Given the description of an element on the screen output the (x, y) to click on. 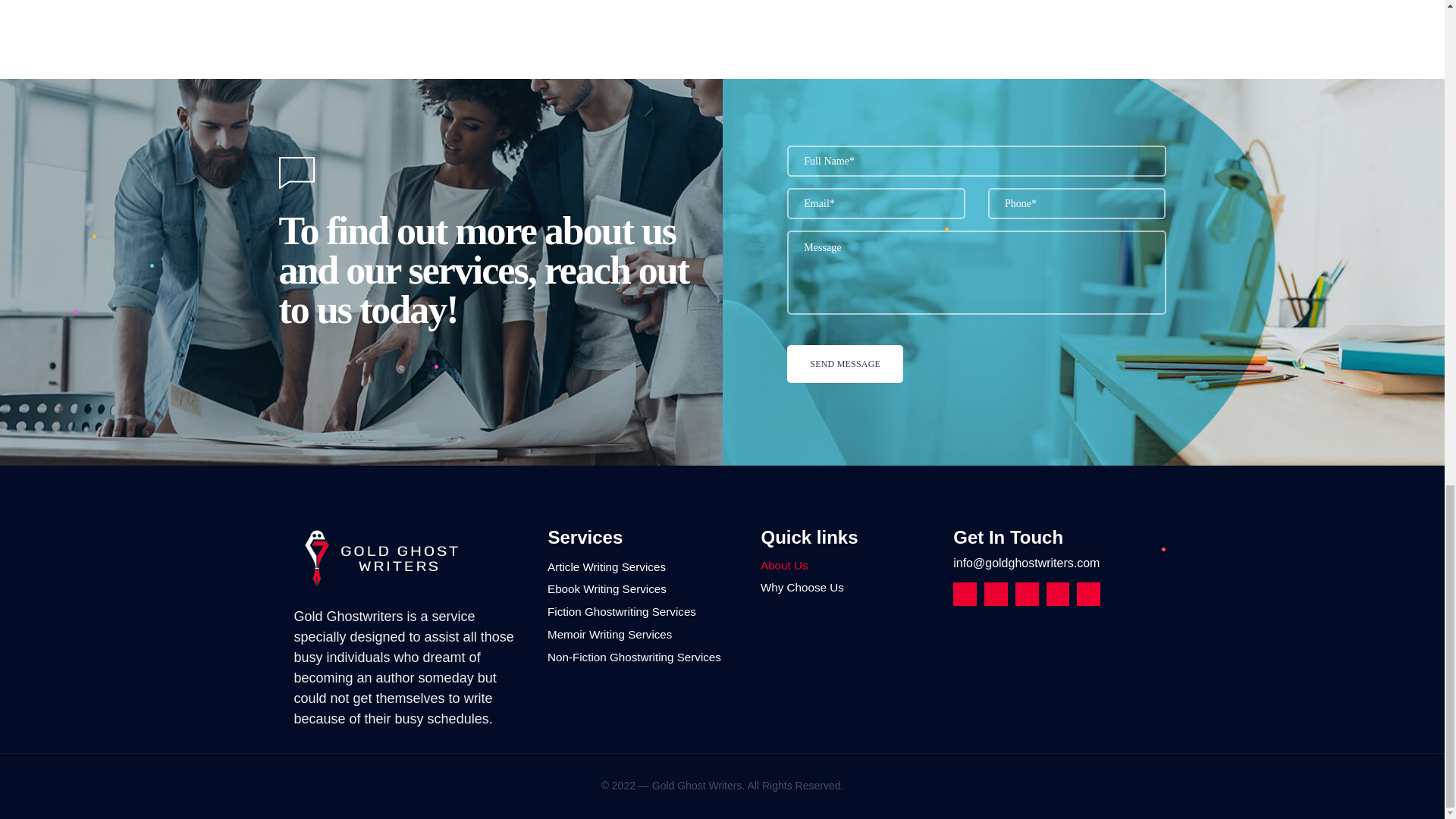
Article Writing Services (642, 567)
Ebook Writing Services (642, 589)
send message (844, 363)
Fiction Ghostwriting Services (642, 612)
send message (844, 363)
